Given the description of an element on the screen output the (x, y) to click on. 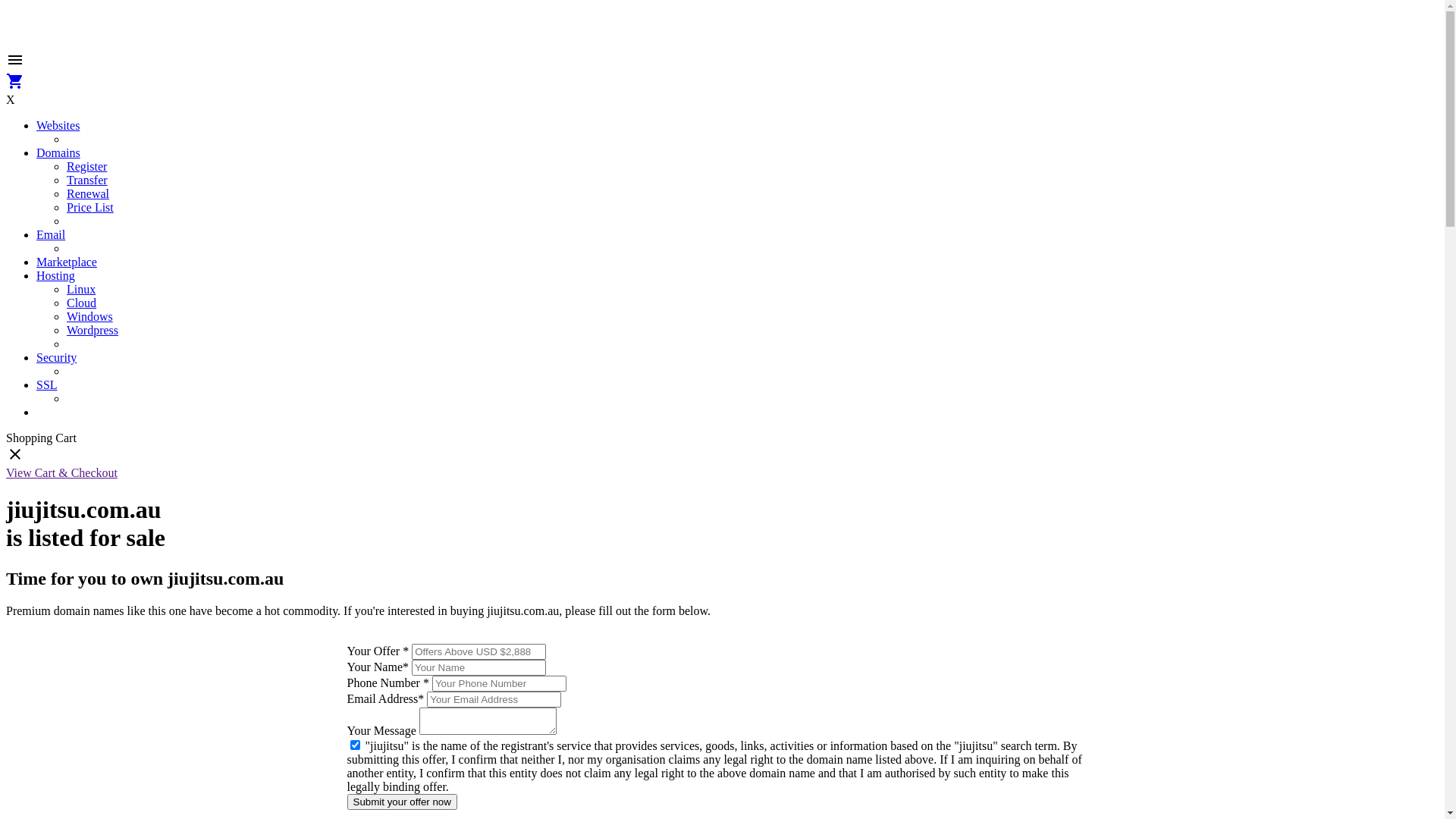
Linux Element type: text (80, 288)
Windows Element type: text (89, 316)
Wordpress Element type: text (92, 329)
shopping_cart Element type: text (15, 85)
Submit your offer now Element type: text (402, 801)
Hosting Element type: text (55, 275)
Register Element type: text (86, 166)
Domains Element type: text (58, 152)
SSL Element type: text (46, 384)
Email Element type: text (50, 234)
Websites Element type: text (57, 125)
View Cart & Checkout Element type: text (61, 472)
Price List Element type: text (89, 206)
Marketplace Element type: text (66, 261)
Renewal Element type: text (87, 193)
Cloud Element type: text (81, 302)
Transfer Element type: text (86, 179)
Security Element type: text (56, 357)
